Given the description of an element on the screen output the (x, y) to click on. 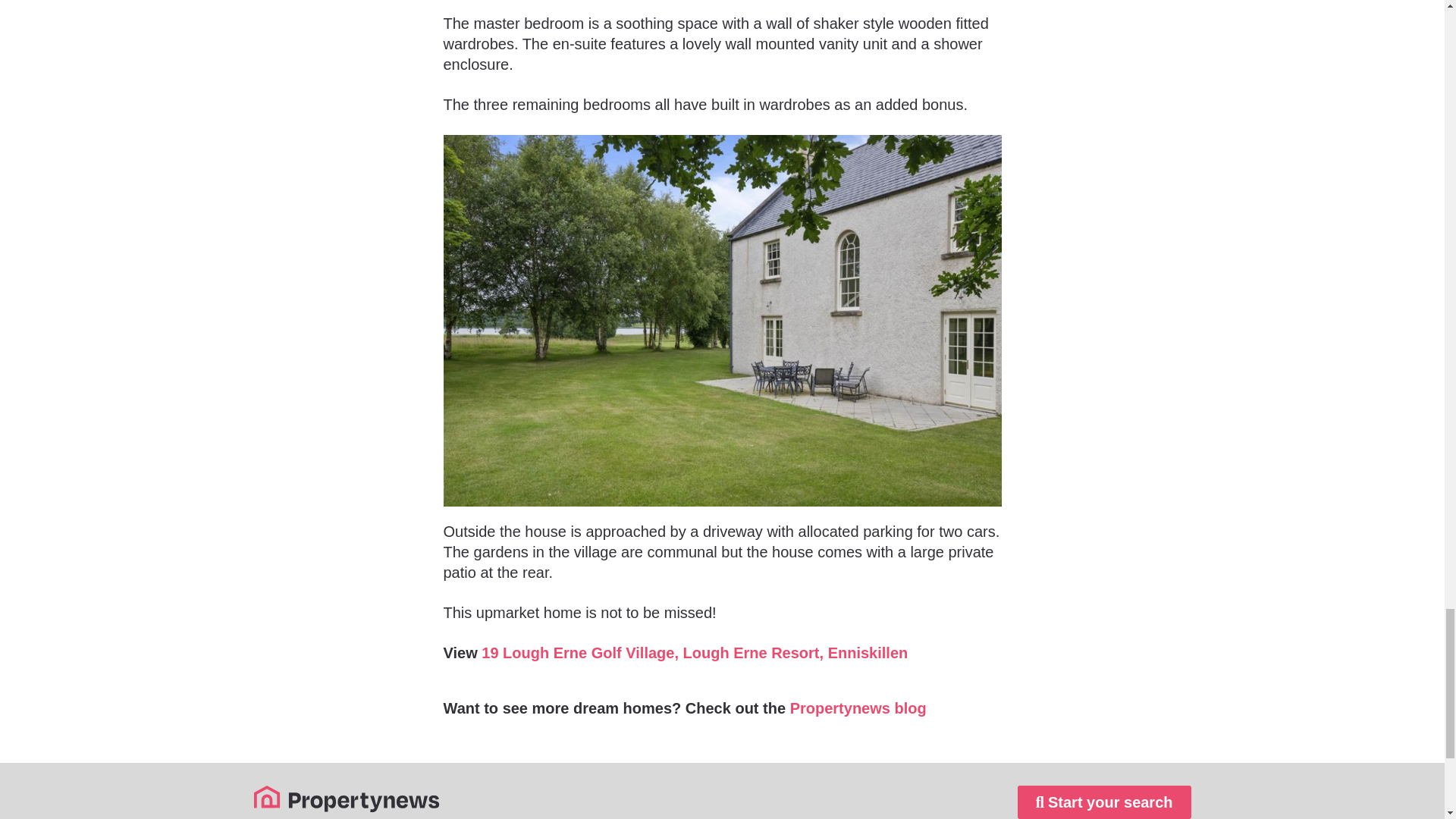
Propertynews blog (858, 708)
Start your search (1104, 802)
19 Lough Erne Golf Village, Lough Erne Resort, Enniskillen (694, 652)
